Given the description of an element on the screen output the (x, y) to click on. 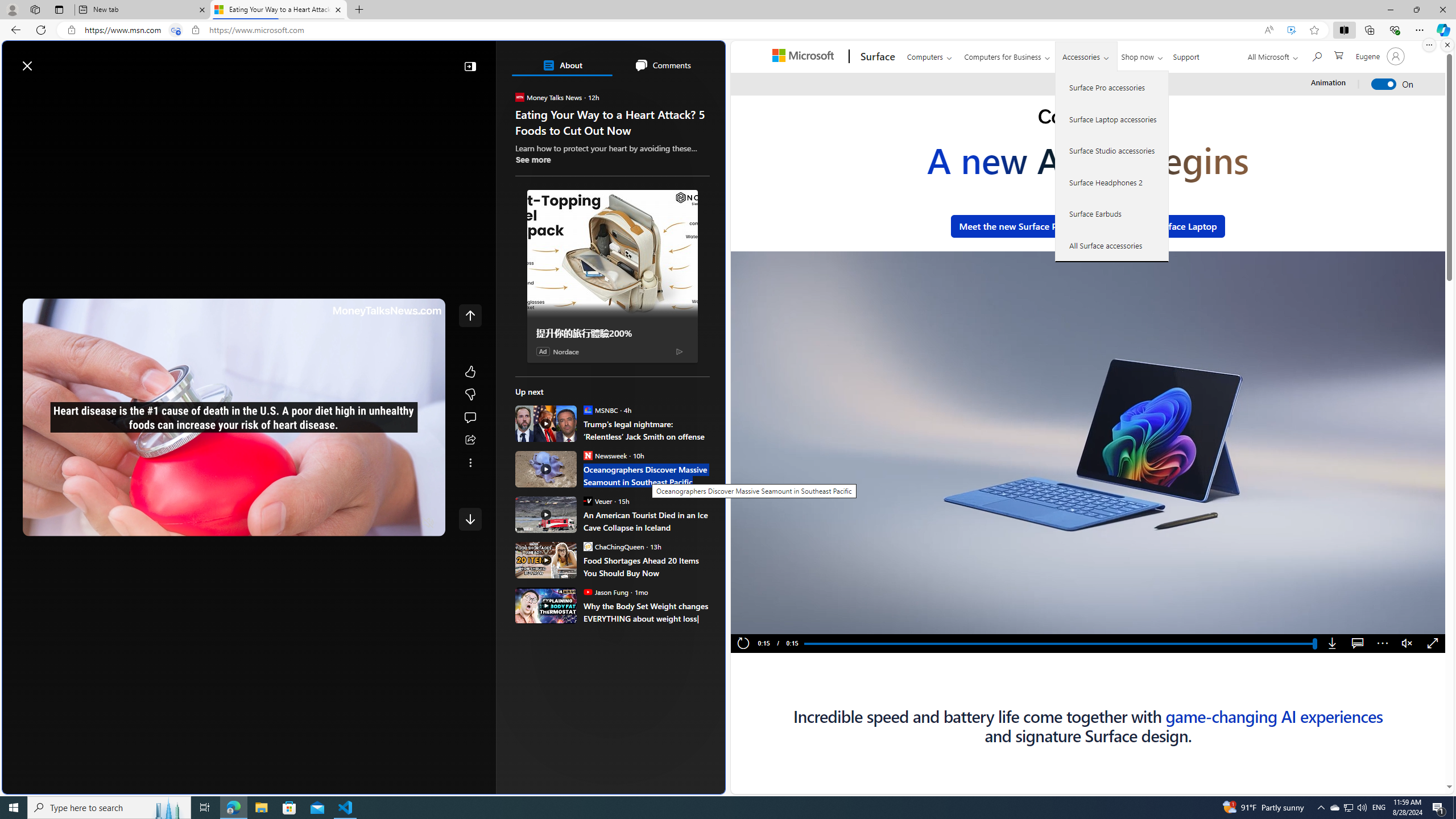
Surface Laptop accessories (1112, 119)
Personalized for You (616, 163)
Captions (1357, 643)
Newsweek (587, 455)
Progress Bar (1058, 643)
Surface Earbuds (1112, 214)
Search Microsoft.com (1316, 54)
